Given the description of an element on the screen output the (x, y) to click on. 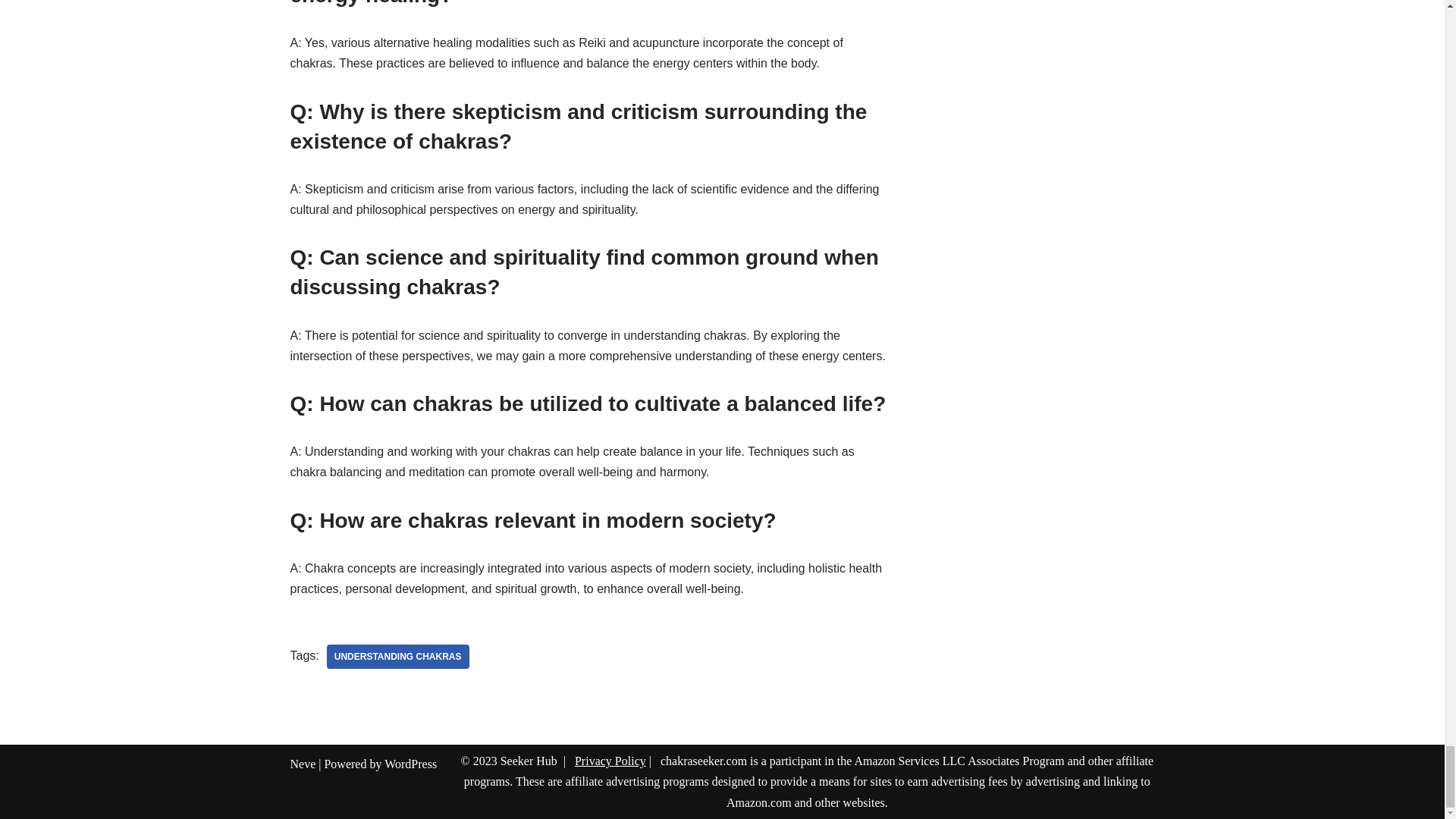
UNDERSTANDING CHAKRAS (397, 656)
